Given the description of an element on the screen output the (x, y) to click on. 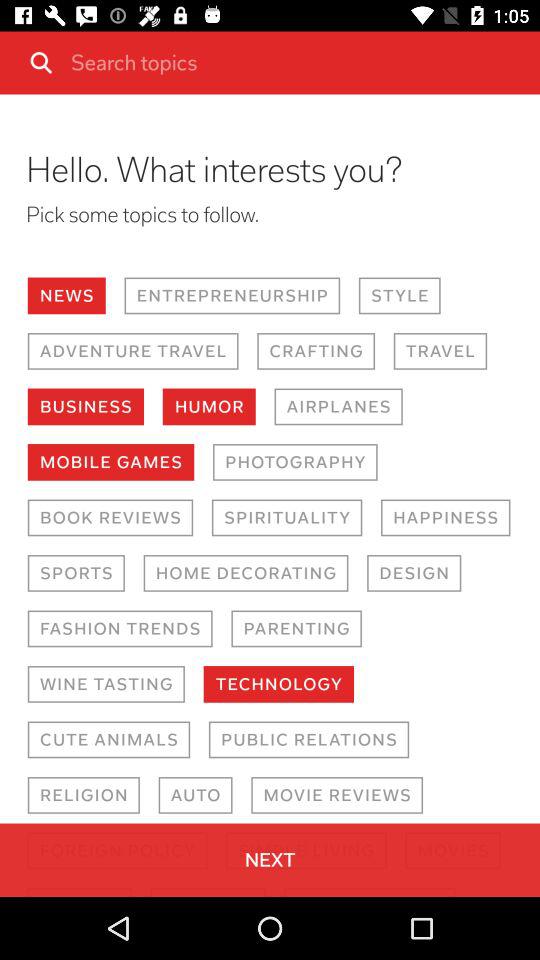
select the item to the right of wine tasting item (278, 684)
